Given the description of an element on the screen output the (x, y) to click on. 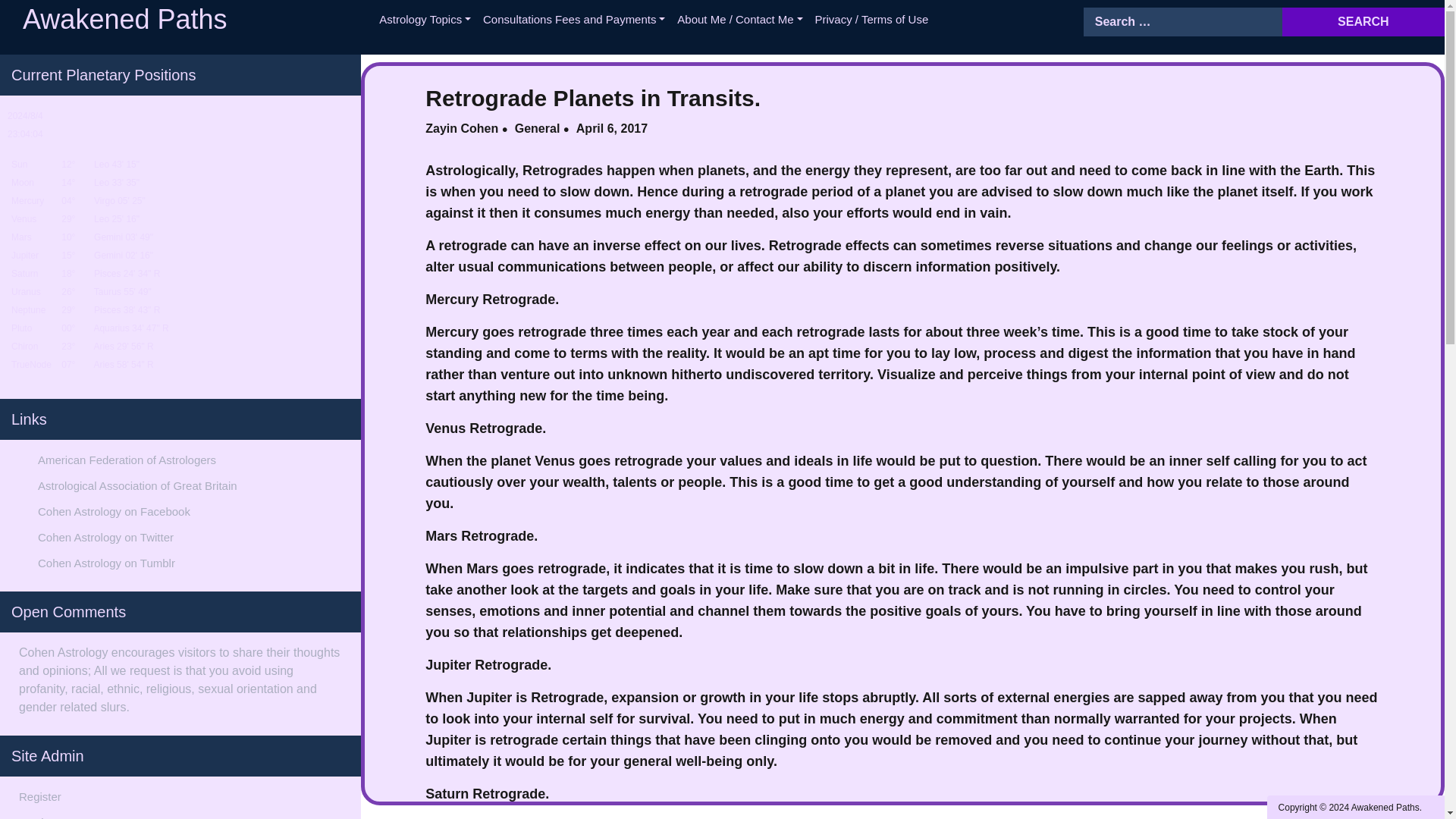
American Federation of Astrologers (126, 459)
Log in (33, 817)
Consultations Fees and Payments (574, 19)
Astrology Topics (424, 19)
Awakened Paths (1385, 807)
Register (39, 796)
Astrological Association of Great Britain (137, 485)
General (537, 128)
Cohen Astrology on Facebook (113, 511)
Cohen Astrology on Twitter (105, 536)
Cohen Astrology on Tumblr (105, 562)
Astrology Topics (424, 19)
Awakened Paths (125, 19)
Consultations Fees and Payments (574, 19)
